Given the description of an element on the screen output the (x, y) to click on. 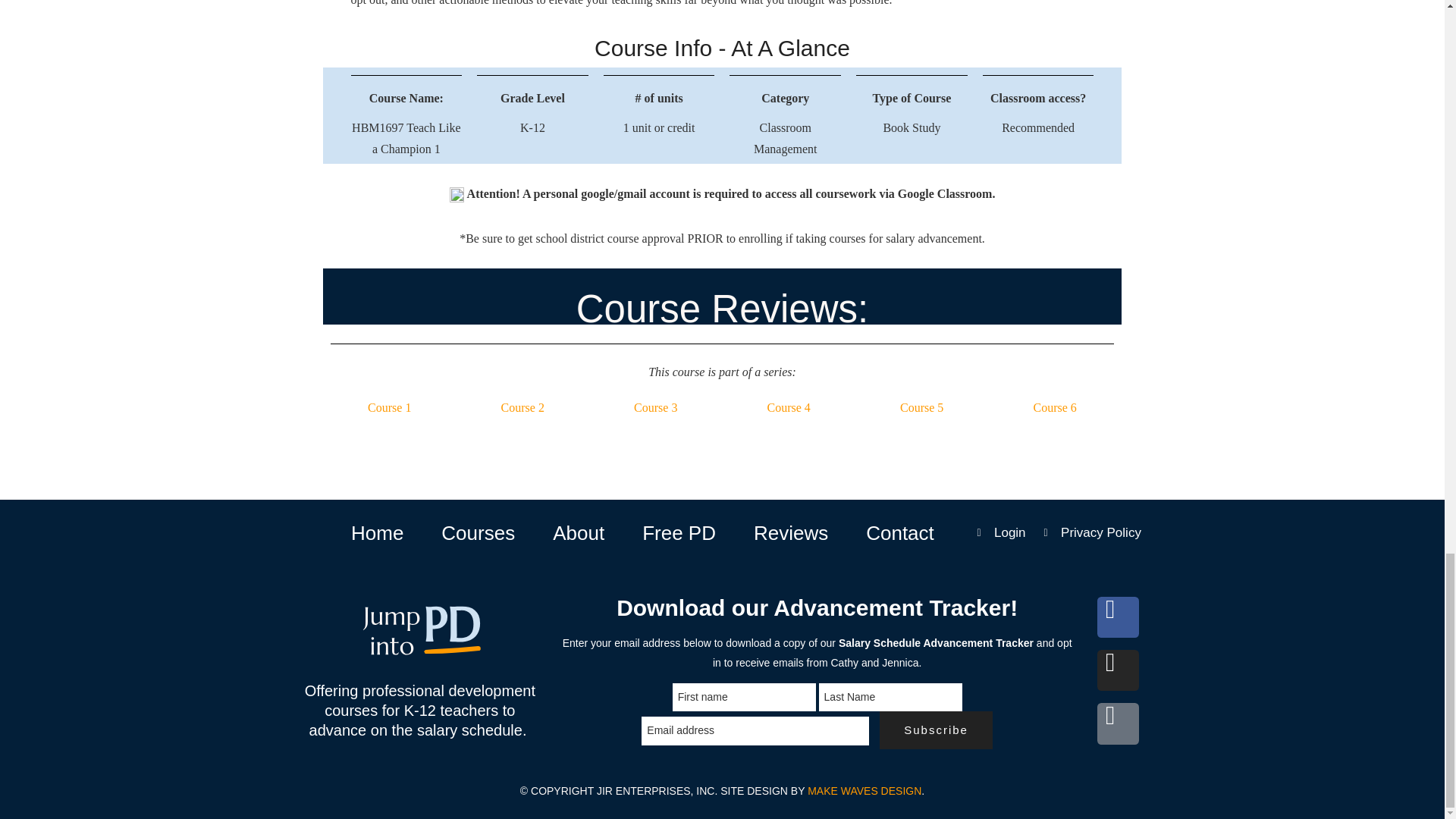
Subscribe (935, 730)
JIPD Website Logo Larger (419, 631)
